Given the description of an element on the screen output the (x, y) to click on. 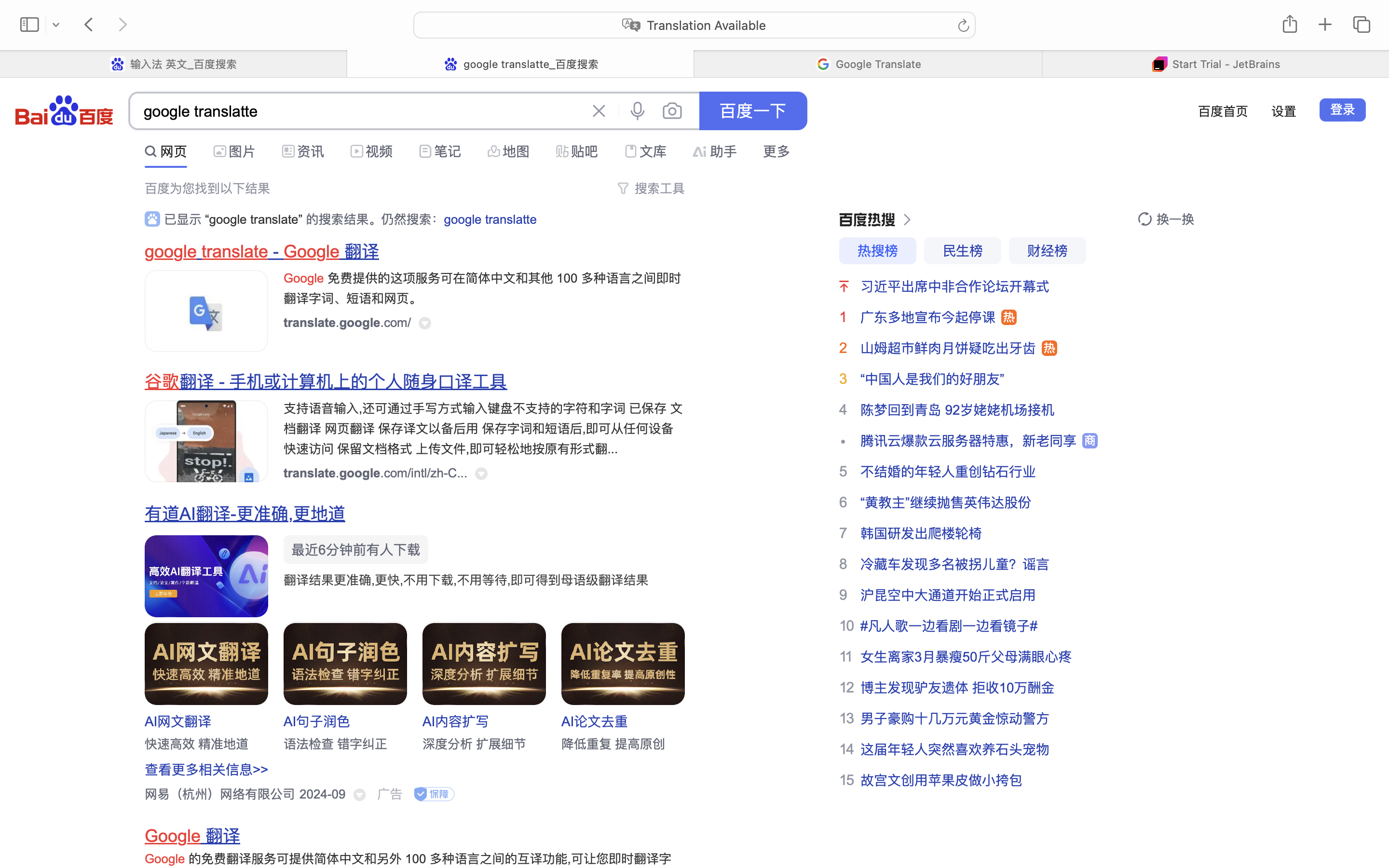
广告 Element type: AXStaticText (390, 793)
图片 Element type: AXStaticText (241, 151)
 Element type: AXStaticText (356, 151)
广东多地宣布今起停课 Element type: AXStaticText (927, 317)
收起工具 Element type: AXStaticText (659, 148)
